Given the description of an element on the screen output the (x, y) to click on. 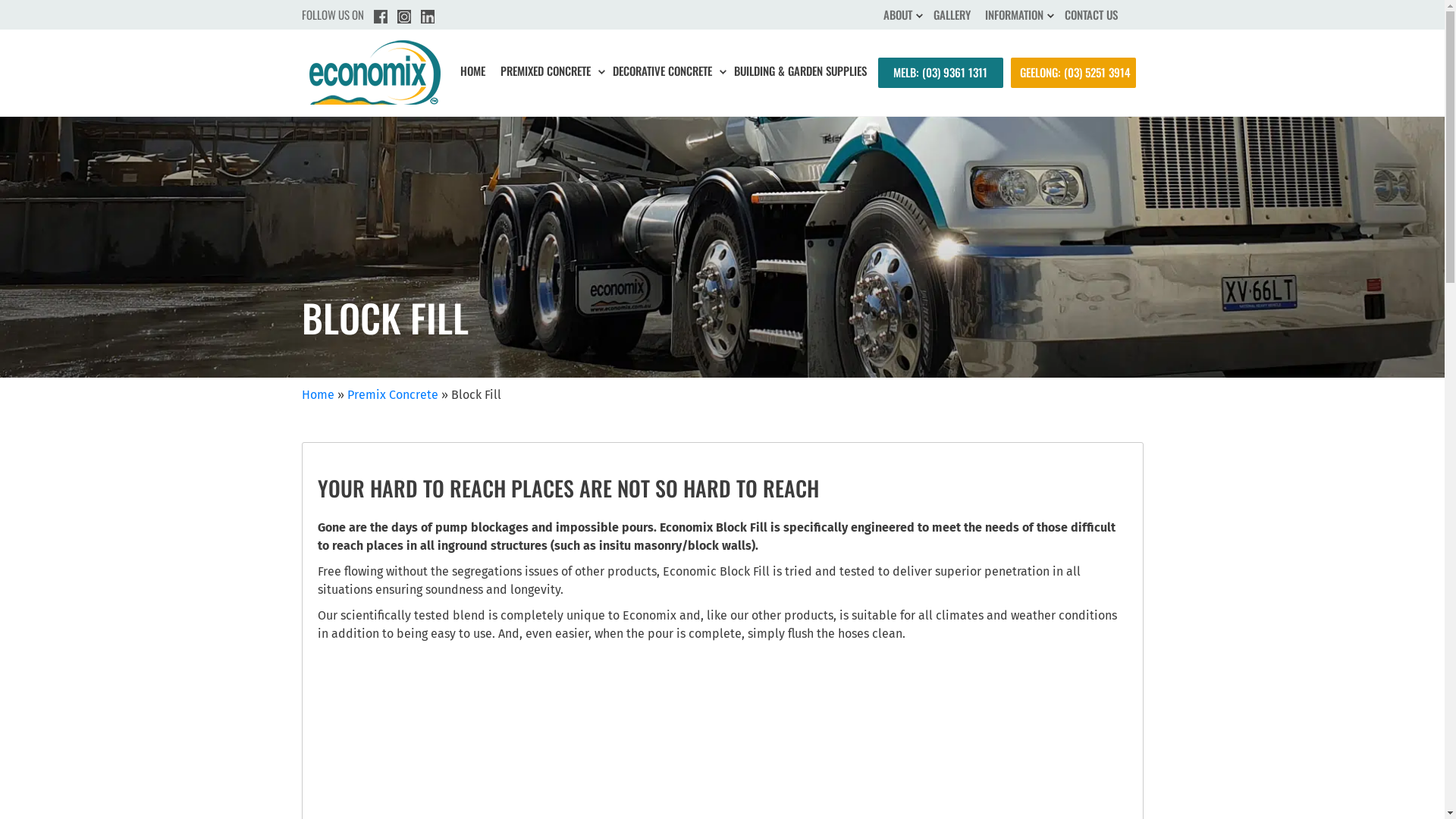
BUILDING & GARDEN SUPPLIES Element type: text (799, 70)
Premix Concrete Element type: text (392, 394)
GALLERY Element type: text (950, 14)
navbar Element type: hover (374, 72)
PREMIXED CONCRETE Element type: text (547, 70)
DECORATIVE CONCRETE Element type: text (664, 70)
Home Element type: text (317, 394)
ABOUT Element type: text (900, 14)
Follow Us on LinkedIn Element type: hover (422, 14)
INFORMATION Element type: text (1016, 14)
Follow Us on Facebook Element type: hover (375, 14)
GEELONG: (03) 5251 3914 Element type: text (1072, 72)
CONTACT US Element type: text (1087, 14)
MELB: (03) 9361 1311 Element type: text (940, 72)
HOME Element type: text (472, 70)
Follow Us on Instagram Element type: hover (400, 14)
